Given the description of an element on the screen output the (x, y) to click on. 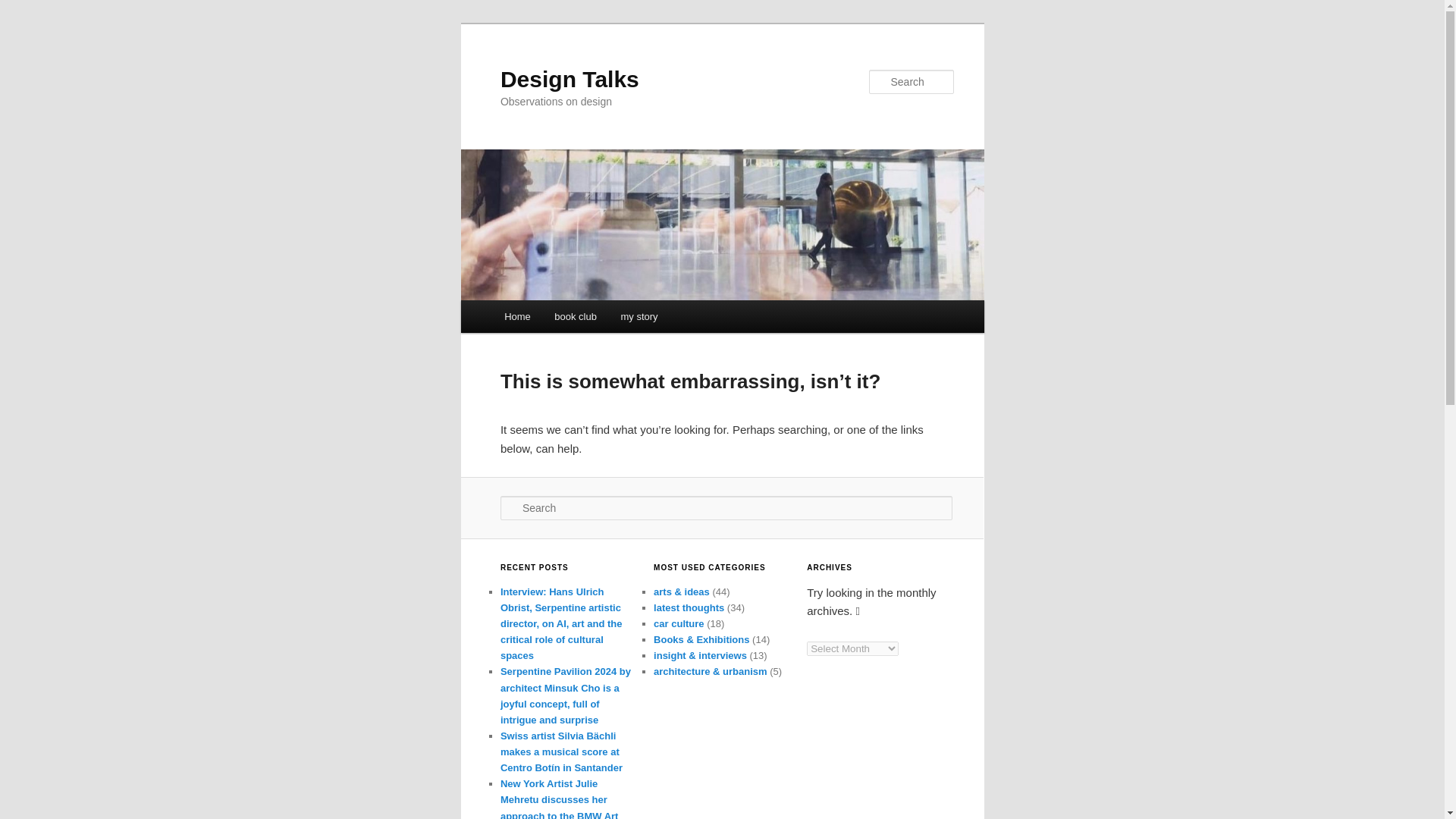
latest thoughts (688, 607)
Home (516, 316)
Search (24, 8)
book club (575, 316)
